Given the description of an element on the screen output the (x, y) to click on. 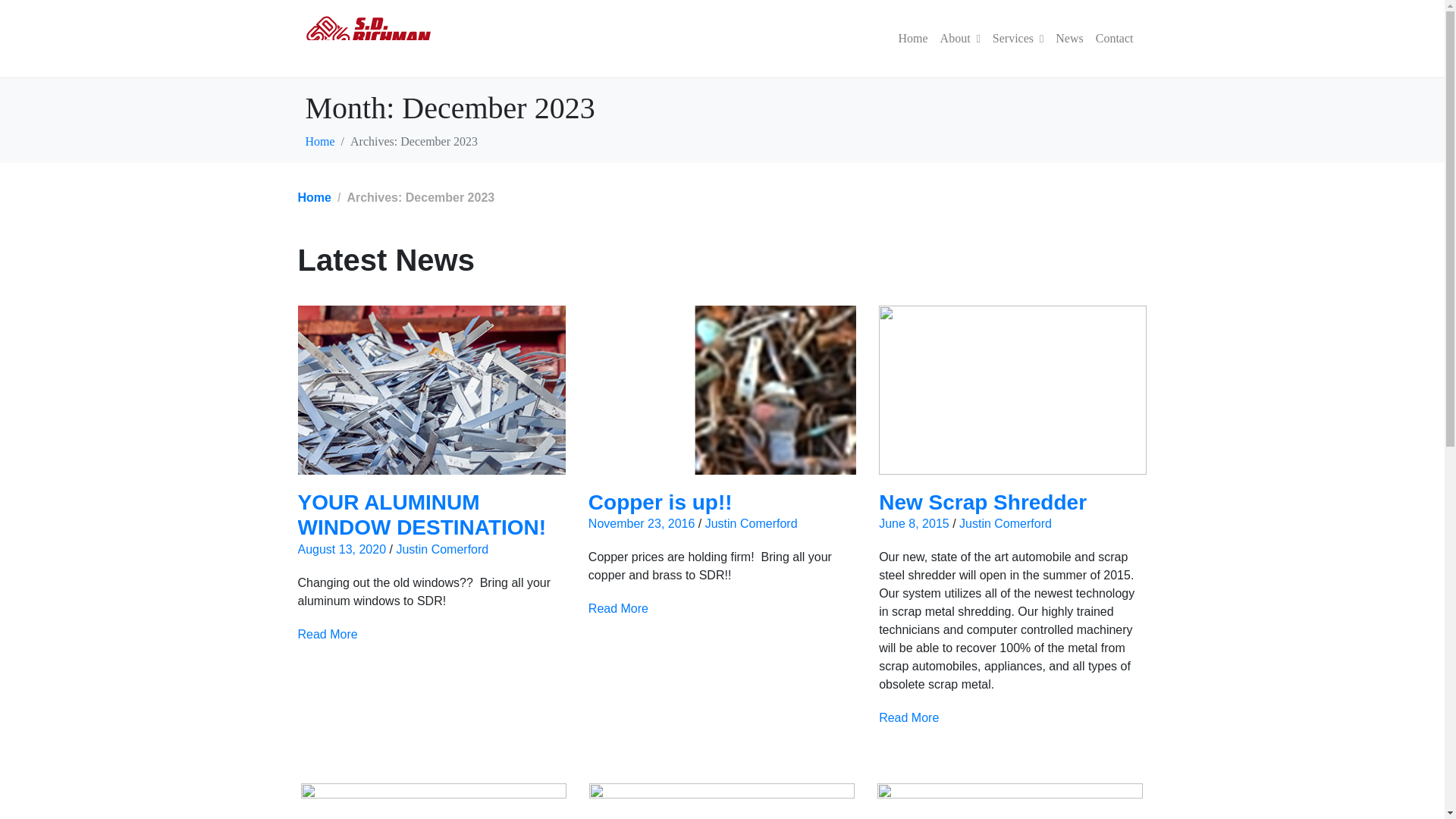
June 8, 2015 (914, 522)
Services (1018, 38)
Home (313, 196)
Read More (617, 608)
Read More (326, 634)
Read More (909, 718)
Justin Comerford (750, 522)
New Scrap Shredder (982, 502)
November 23, 2016 (641, 522)
About (960, 38)
